Given the description of an element on the screen output the (x, y) to click on. 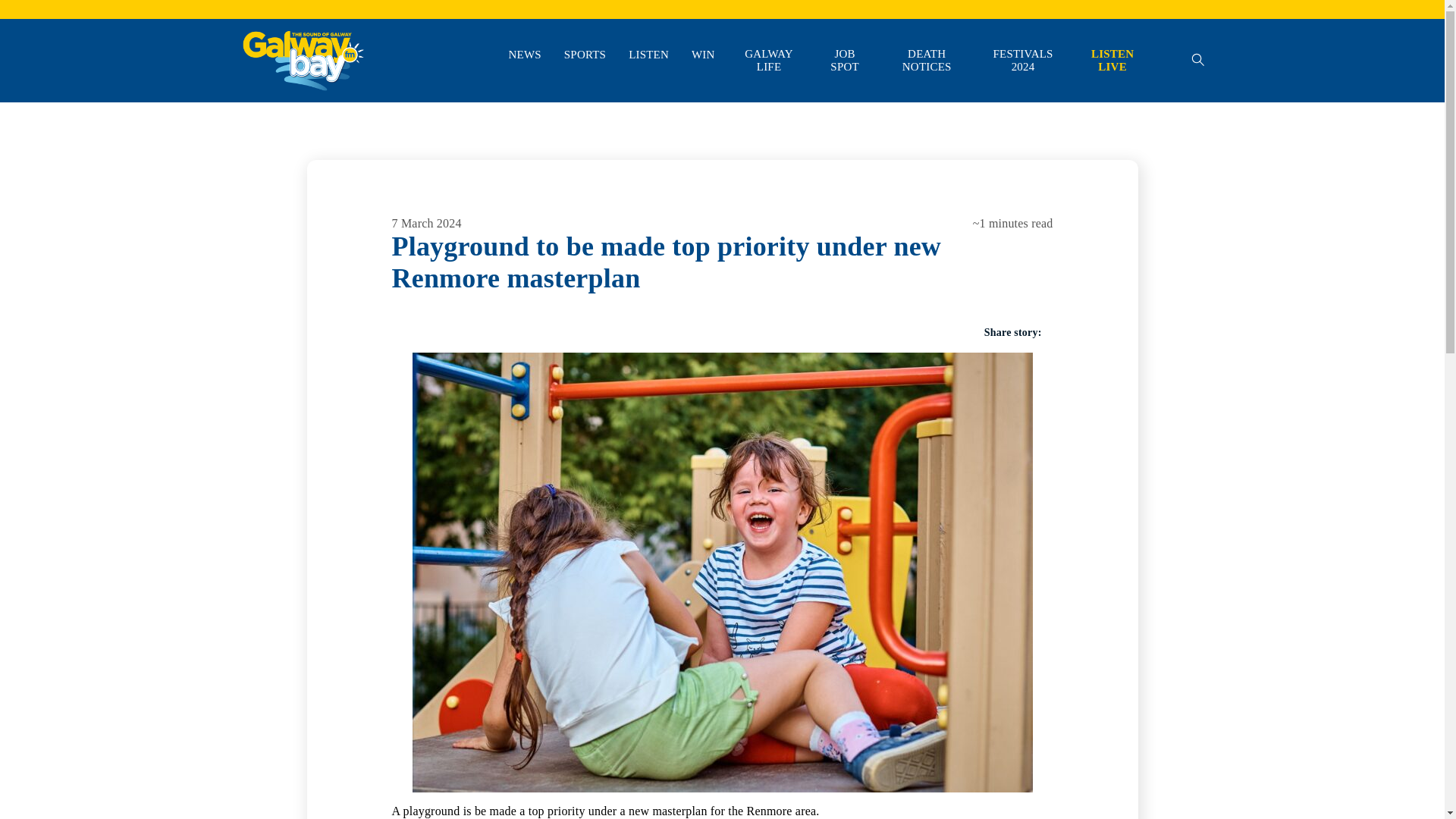
NEWS (524, 54)
DEATH NOTICES (926, 60)
Galway Bay FM (279, 112)
SPORTS (584, 54)
LISTEN (648, 54)
GALWAY LIFE (769, 60)
FESTIVALS 2024 (1023, 60)
LISTEN LIVE (1111, 60)
JOB SPOT (844, 60)
WIN (702, 54)
